Given the description of an element on the screen output the (x, y) to click on. 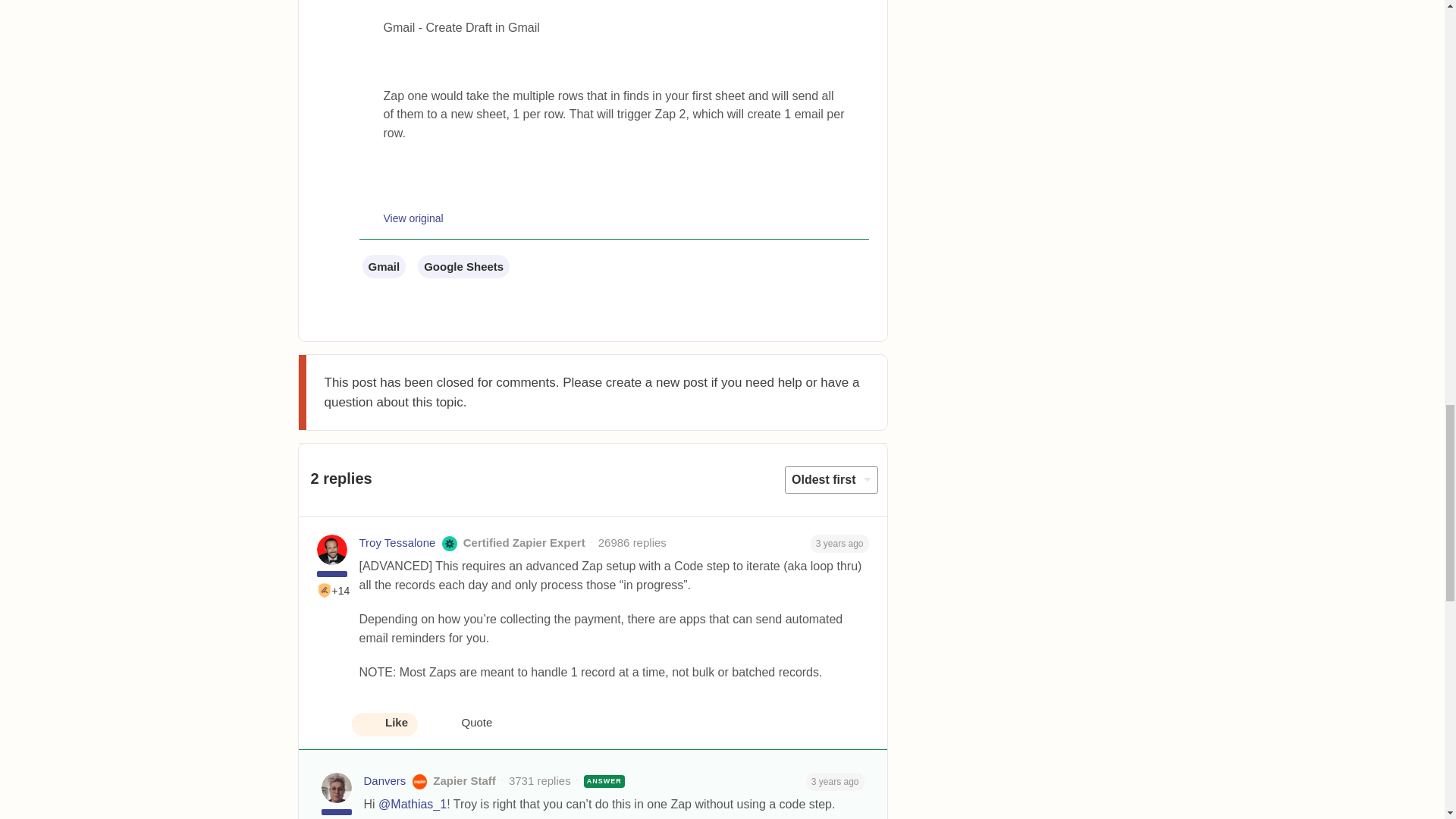
Troy Tessalone (397, 543)
Danvers (385, 781)
First Best Answer (324, 590)
